Given the description of an element on the screen output the (x, y) to click on. 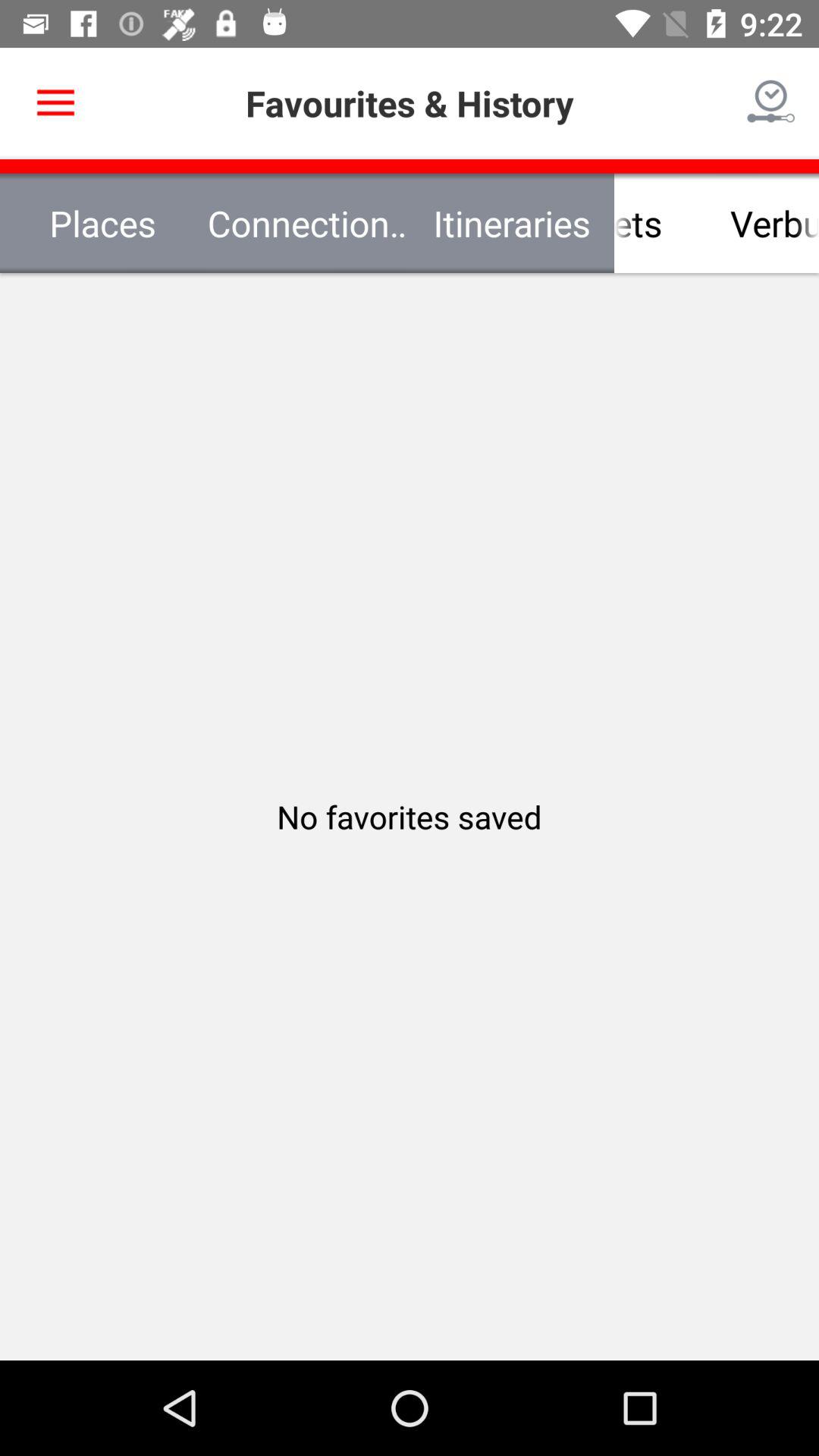
scroll until the itineraries icon (614, 223)
